Given the description of an element on the screen output the (x, y) to click on. 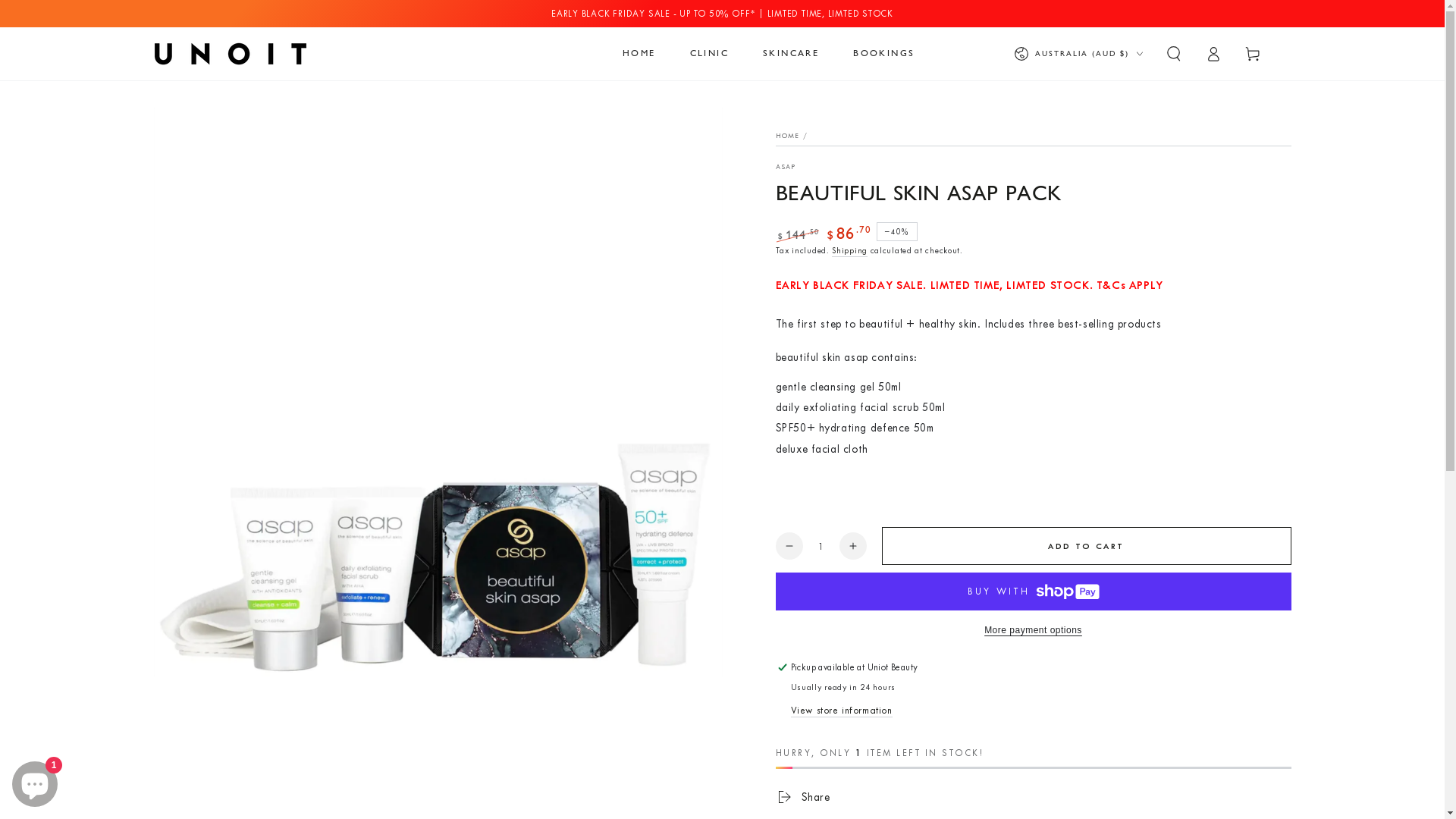
Shipping Element type: text (849, 251)
More payment options Element type: text (1032, 629)
HOME Element type: text (639, 53)
View store information Element type: text (840, 710)
BOOKINGS Element type: text (883, 53)
HOME Element type: text (787, 135)
Log in Element type: text (1213, 53)
Decrease quantity for Beautiful Skin Asap Pack Element type: text (788, 545)
ASAP Element type: text (785, 166)
Increase quantity for Beautiful Skin Asap Pack Element type: text (852, 545)
Shopify online store chat Element type: hover (34, 780)
CLINIC Element type: text (709, 53)
SKIP TO PRODUCT INFORMATION Element type: text (244, 125)
SKINCARE Element type: text (790, 53)
AUSTRALIA (AUD $) Element type: text (1077, 53)
Open media 1 in modal Element type: text (437, 391)
ADD TO CART Element type: text (1085, 545)
